Given the description of an element on the screen output the (x, y) to click on. 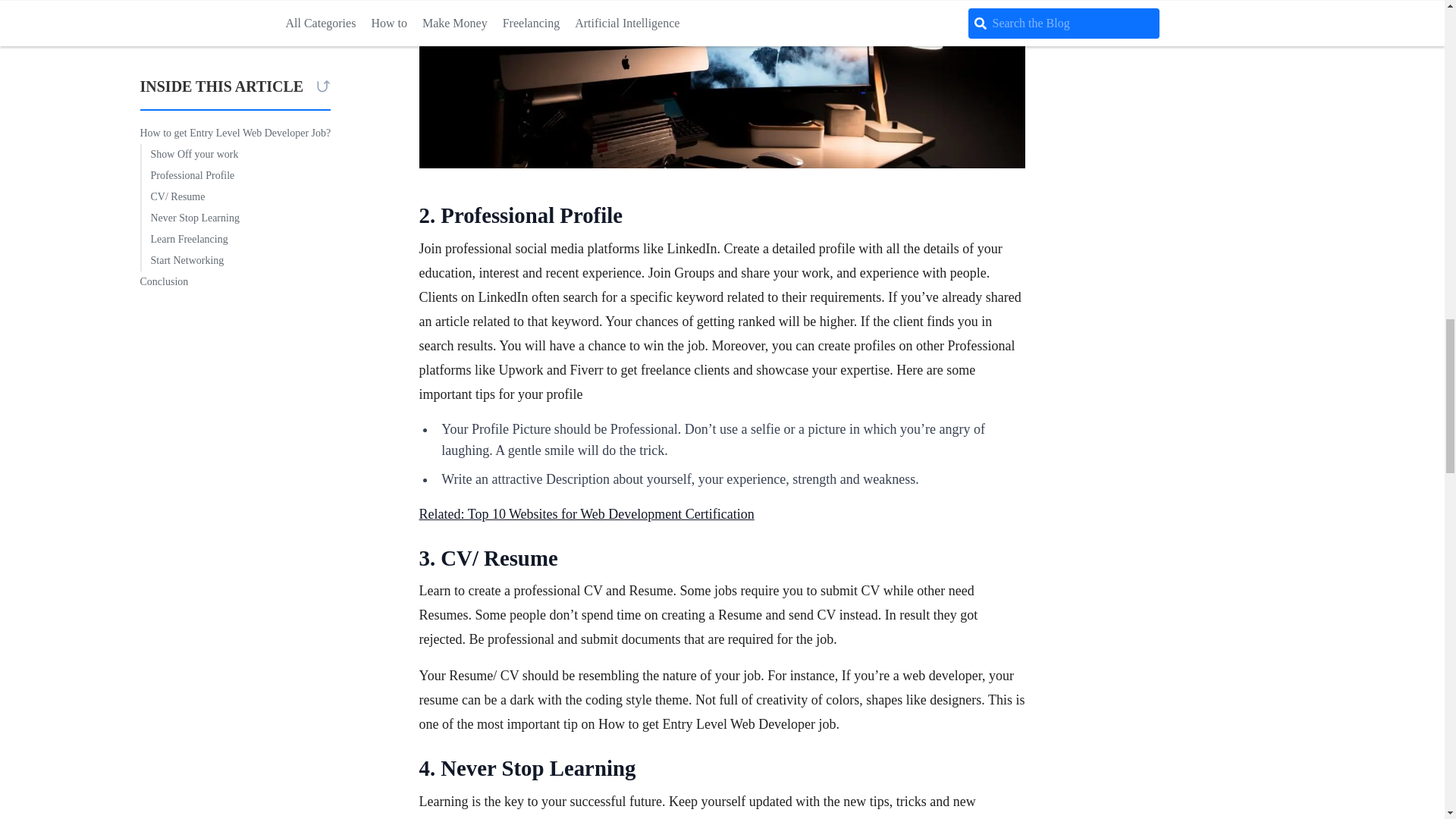
Related: Top 10 Websites for Web Development Certification (586, 513)
